Given the description of an element on the screen output the (x, y) to click on. 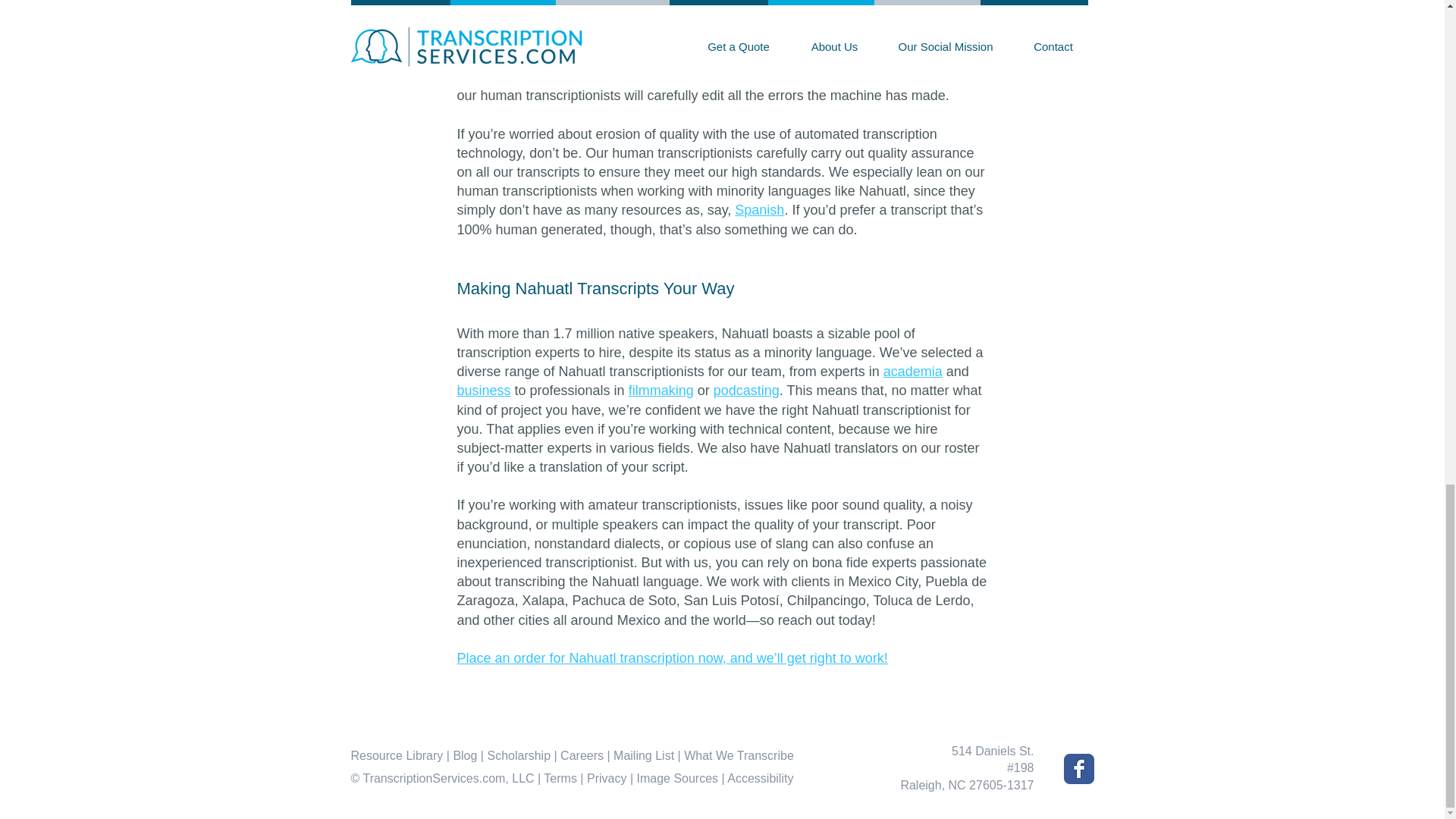
filmmaking (661, 390)
Spanish (759, 209)
podcasting (745, 390)
Terms (559, 778)
Resource Library (396, 755)
business (484, 390)
Image Sources (676, 778)
Accessibility (759, 778)
Mailing List (643, 755)
What We Transcribe (738, 755)
